Given the description of an element on the screen output the (x, y) to click on. 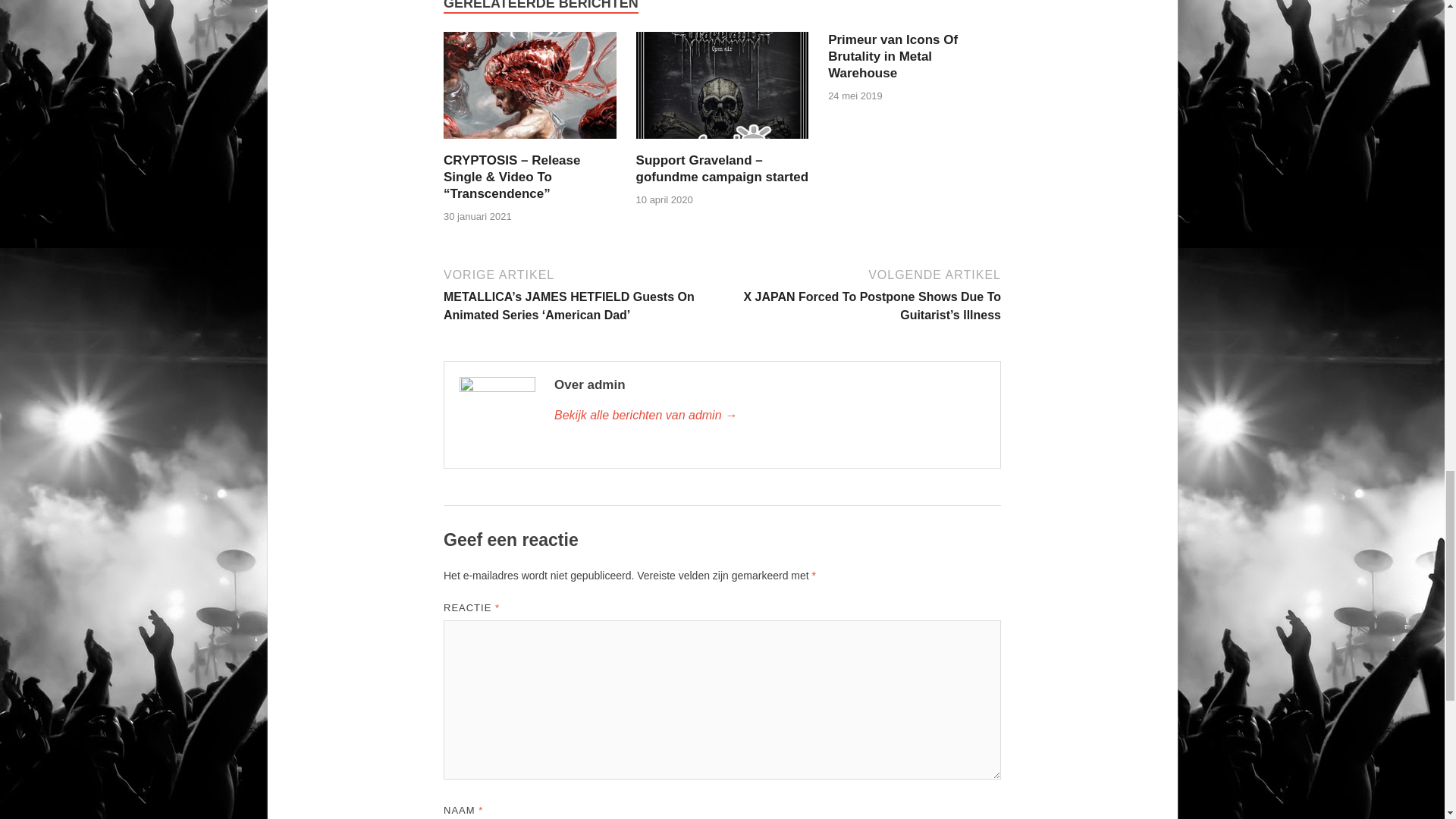
Primeur van Icons Of Brutality in Metal Warehouse (893, 56)
admin (769, 415)
